Given the description of an element on the screen output the (x, y) to click on. 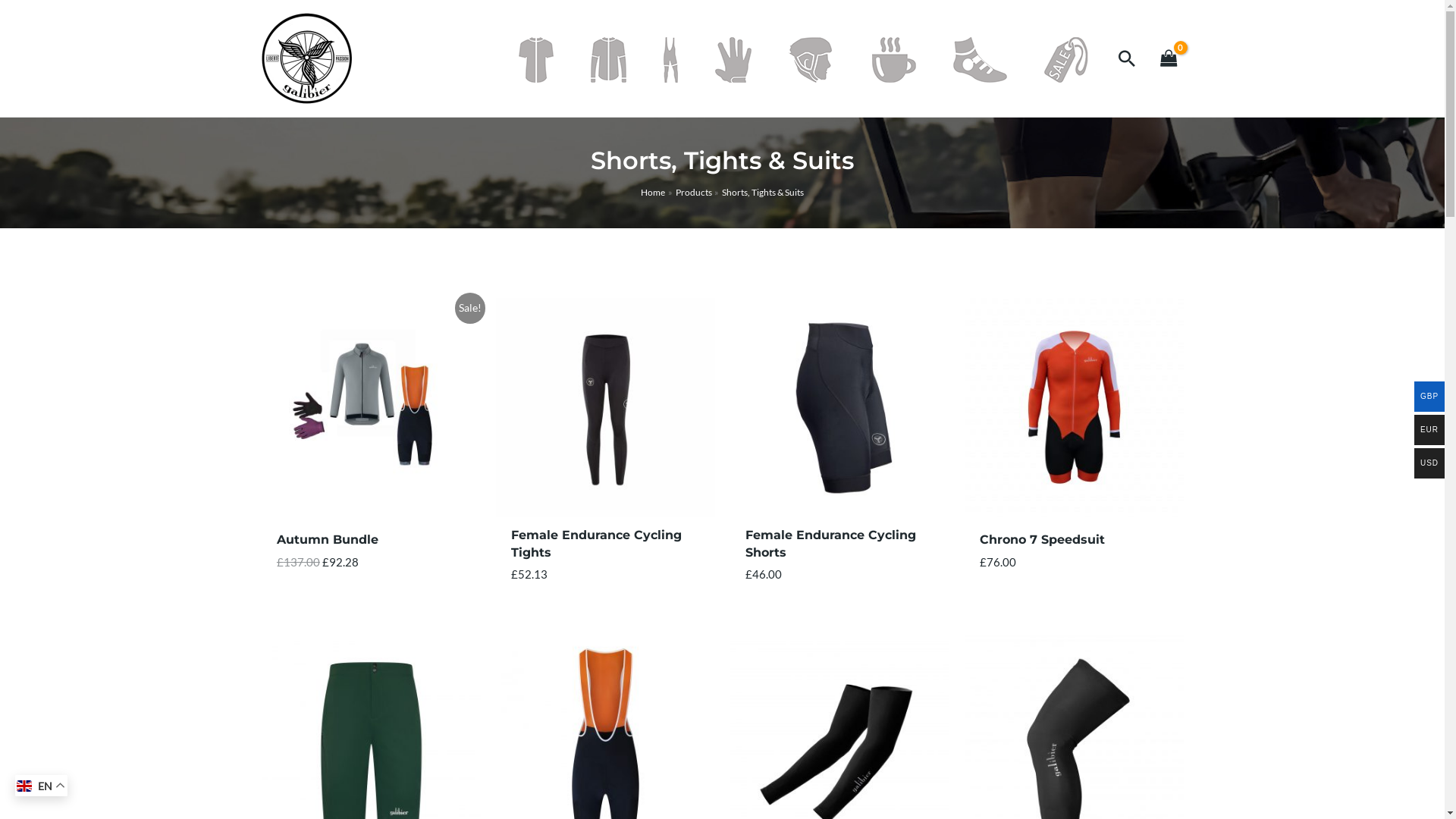
Search Element type: text (1126, 58)
Autumn Bundle Element type: text (327, 542)
Home Element type: text (652, 191)
Female Endurance Cycling Tights Element type: text (605, 547)
Female Endurance Cycling Shorts Element type: text (839, 547)
Chrono 7 Speedsuit Element type: text (1041, 542)
Products Element type: text (692, 191)
